Given the description of an element on the screen output the (x, y) to click on. 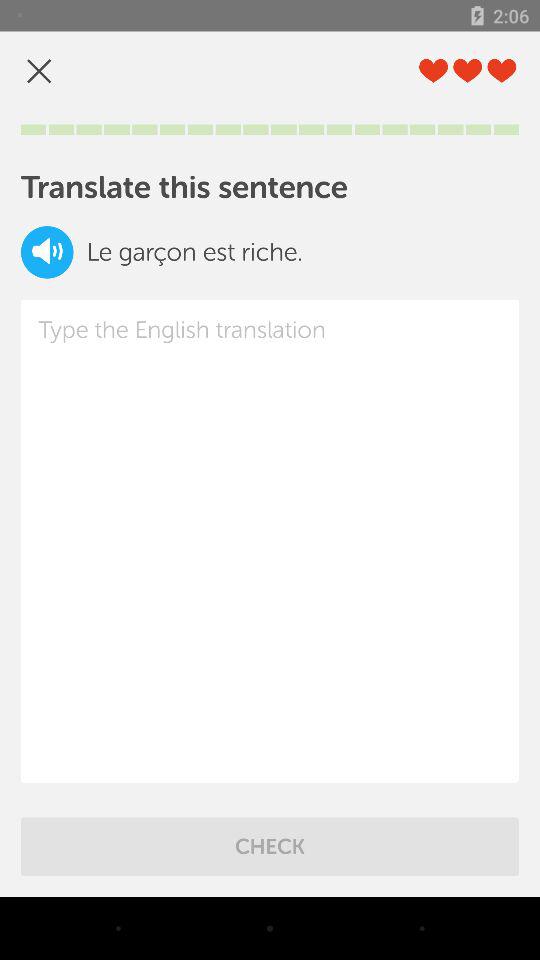
select the first love icon (433, 71)
click on the first heart button (433, 71)
click on the love symbol at the top right corner (502, 71)
